Given the description of an element on the screen output the (x, y) to click on. 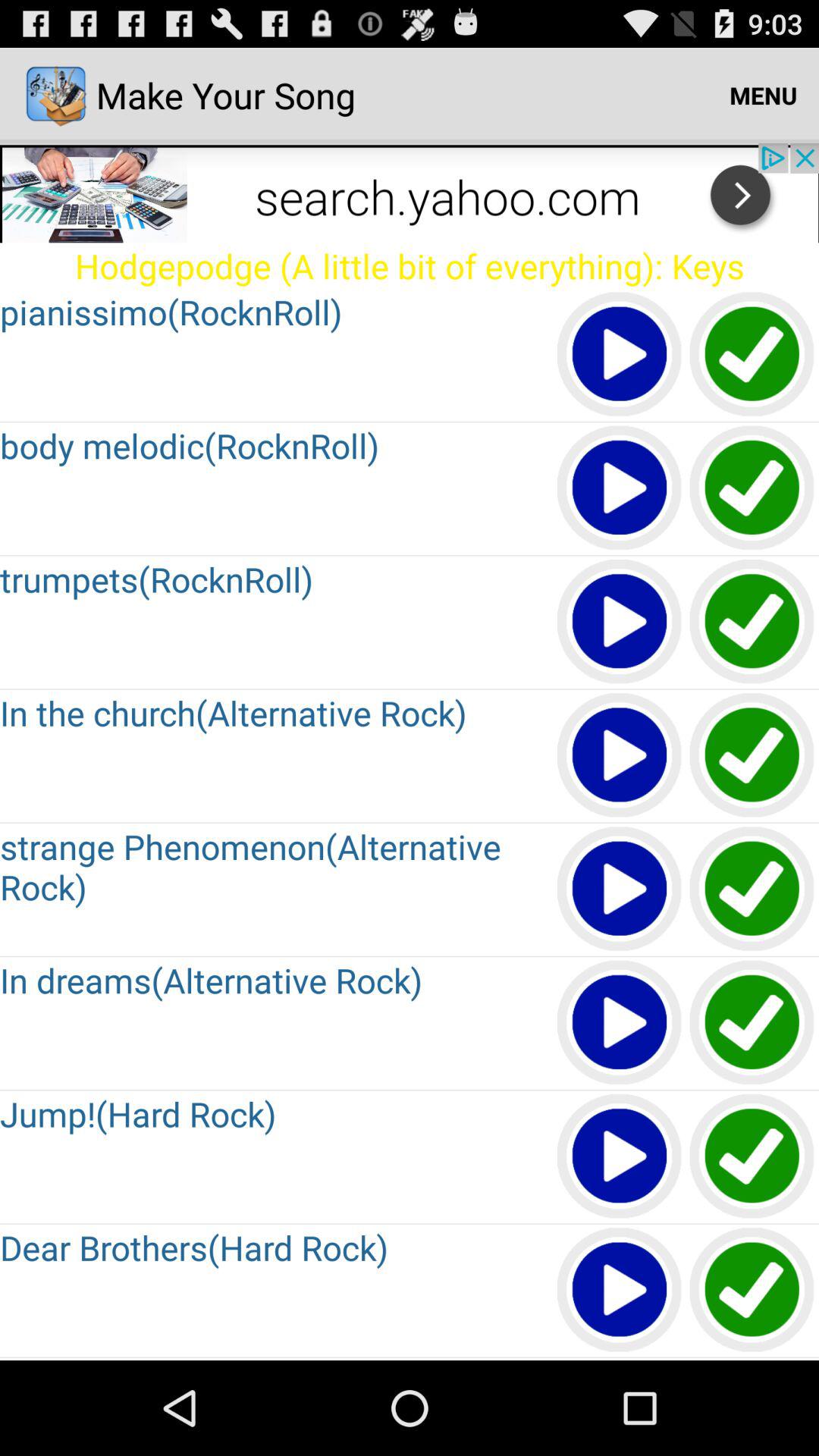
correct (752, 1156)
